Given the description of an element on the screen output the (x, y) to click on. 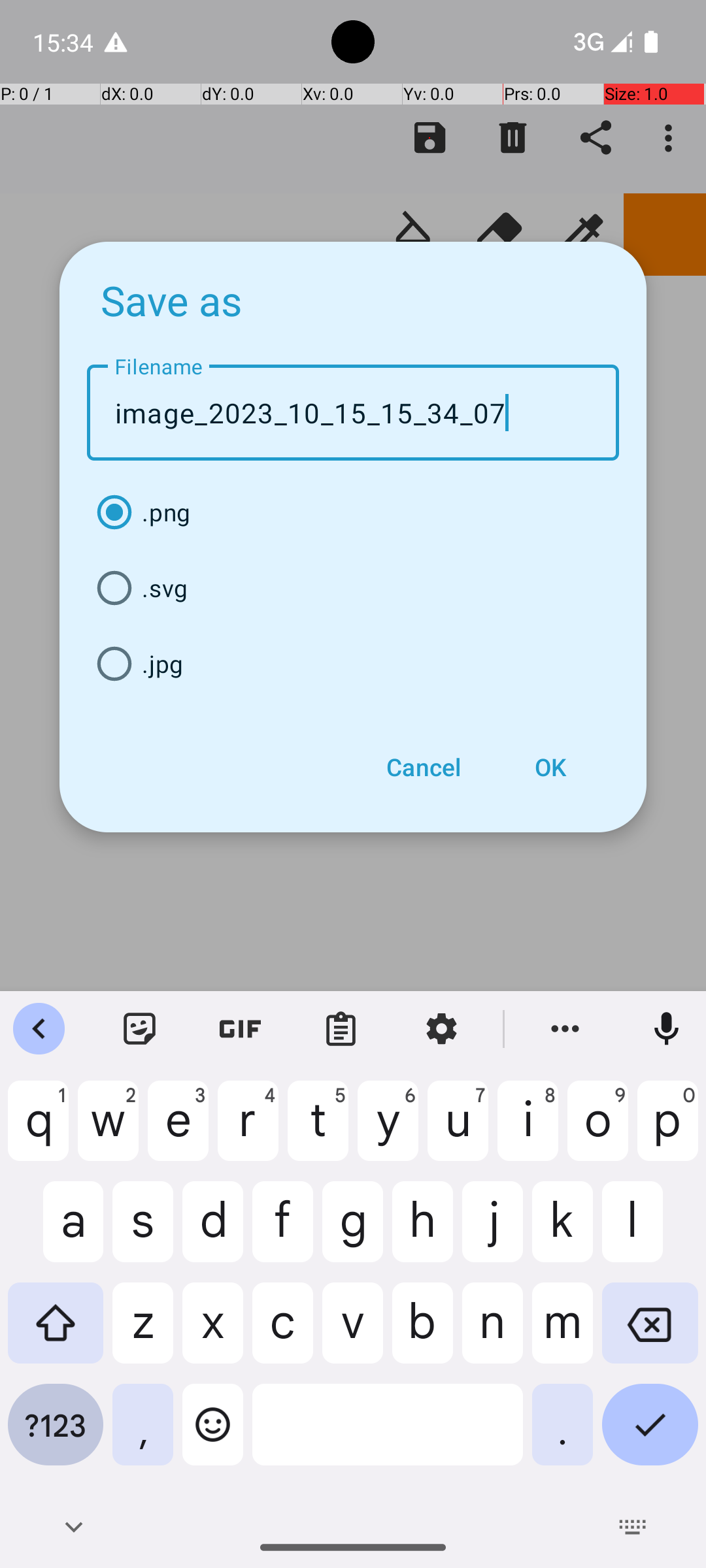
Save as Element type: android.widget.TextView (171, 299)
image_2023_10_15_15_34_07 Element type: android.widget.EditText (352, 412)
.png Element type: android.widget.RadioButton (352, 512)
.svg Element type: android.widget.RadioButton (352, 587)
.jpg Element type: android.widget.RadioButton (352, 663)
